Given the description of an element on the screen output the (x, y) to click on. 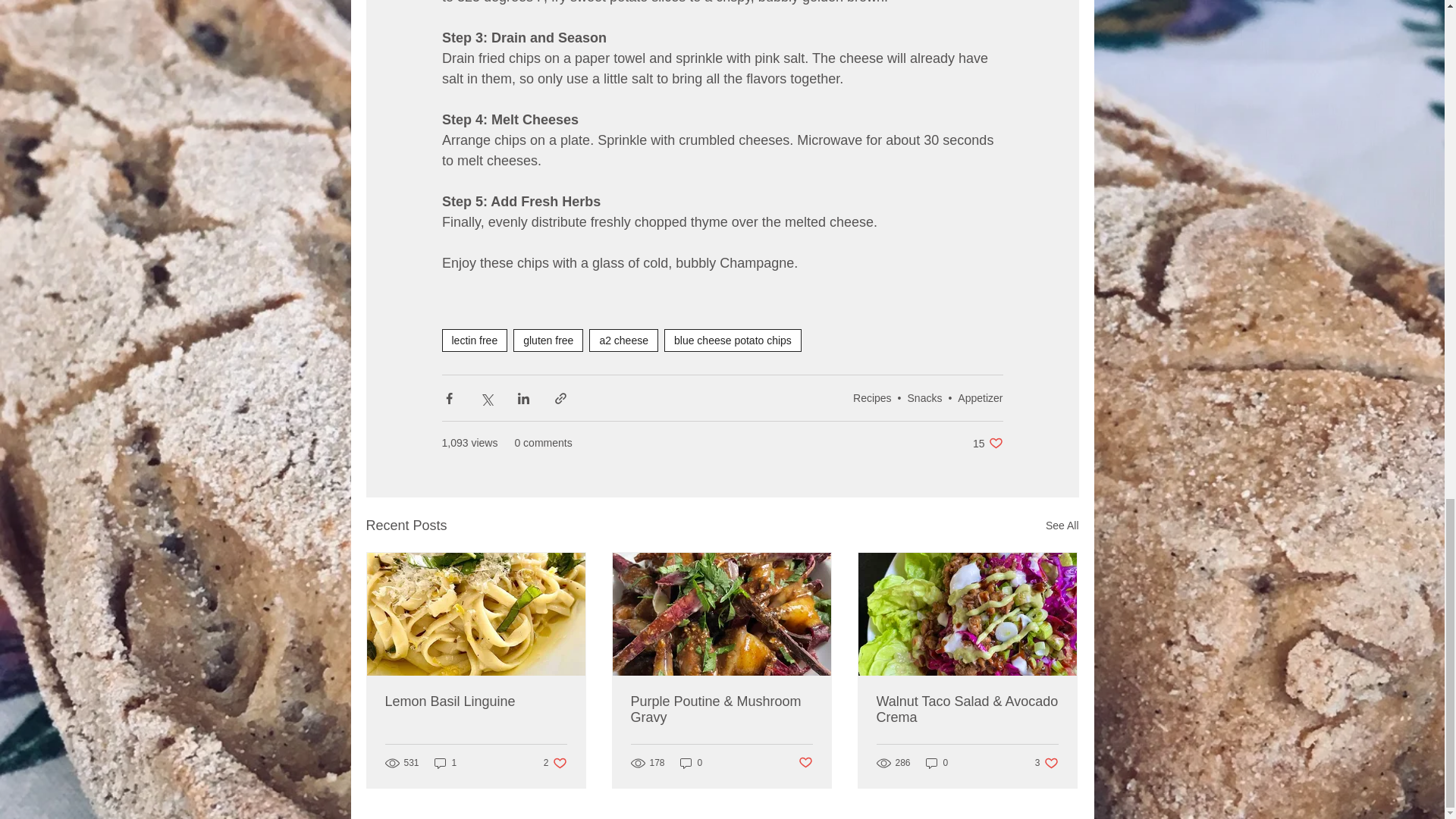
blue cheese potato chips (732, 340)
gluten free (548, 340)
a2 cheese (623, 340)
lectin free (473, 340)
